Given the description of an element on the screen output the (x, y) to click on. 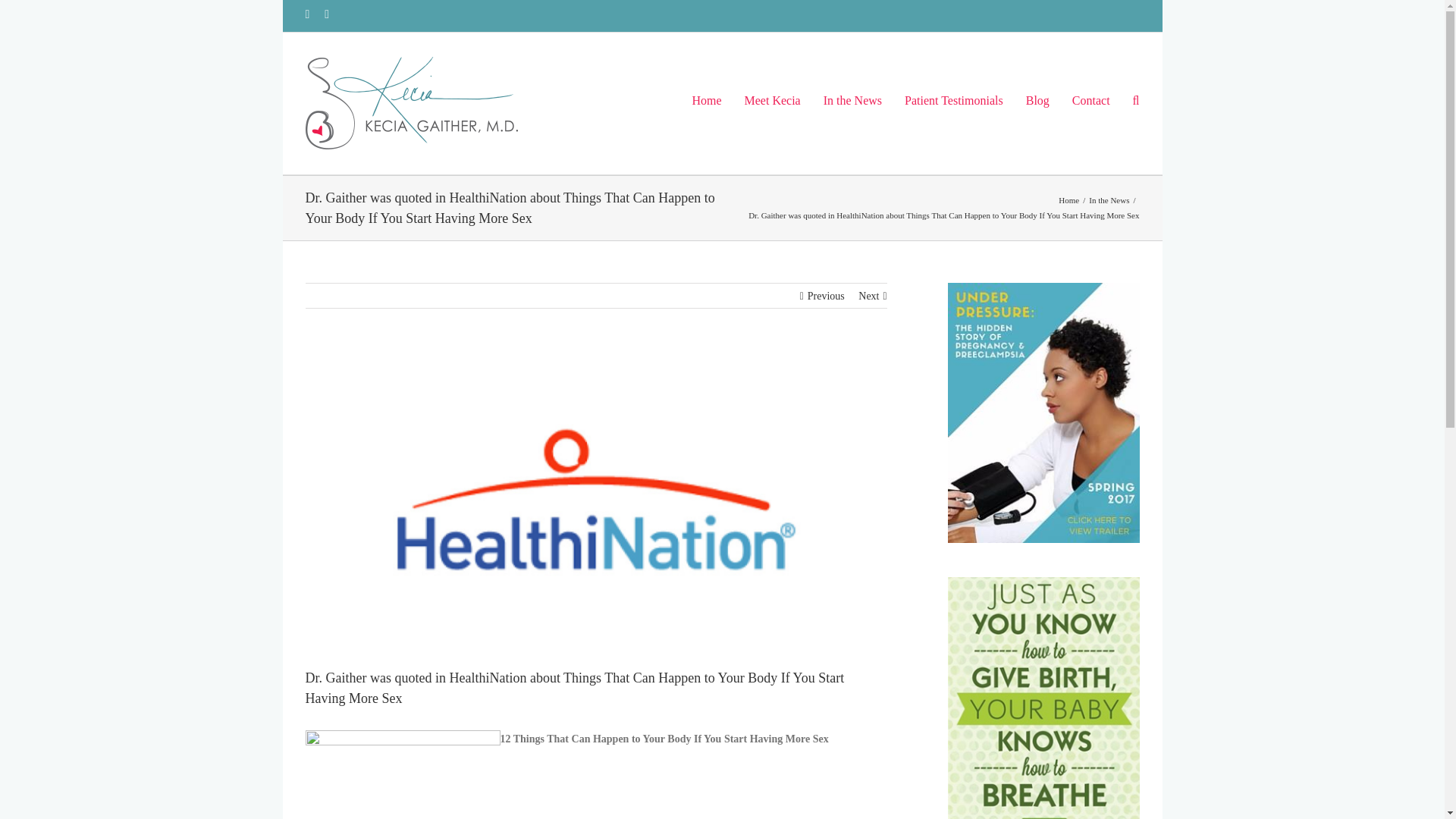
Home (1068, 199)
Previous (826, 296)
In the News (1109, 199)
